Given the description of an element on the screen output the (x, y) to click on. 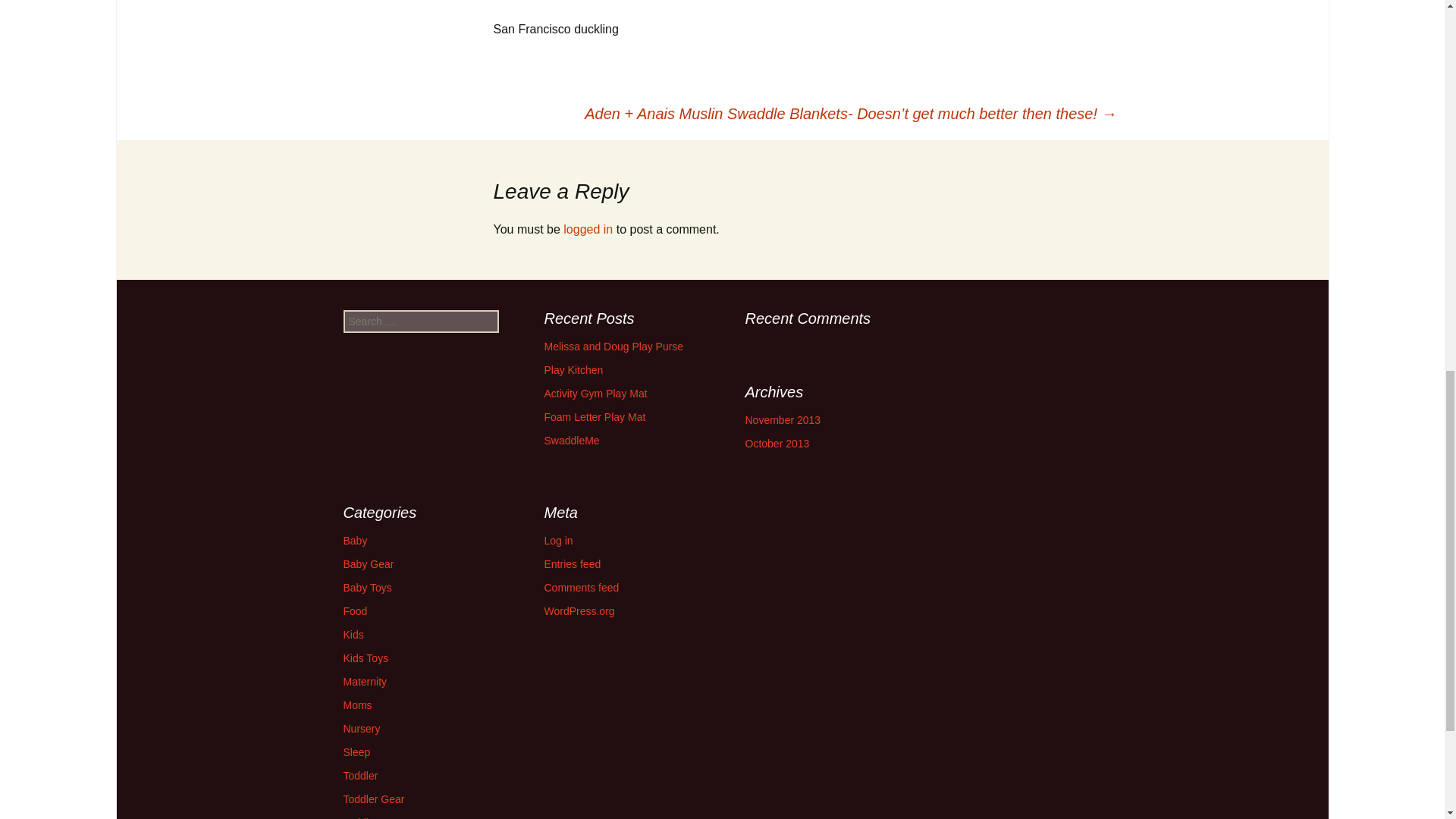
Baby Gear (367, 563)
Nursery (361, 728)
Activity Gym Play Mat (595, 393)
Baby Toys (366, 587)
Kids (352, 634)
Kids Toys (365, 657)
Toddler (359, 775)
Melissa and Doug Play Purse (614, 346)
Sleep (355, 752)
Baby (354, 540)
